Given the description of an element on the screen output the (x, y) to click on. 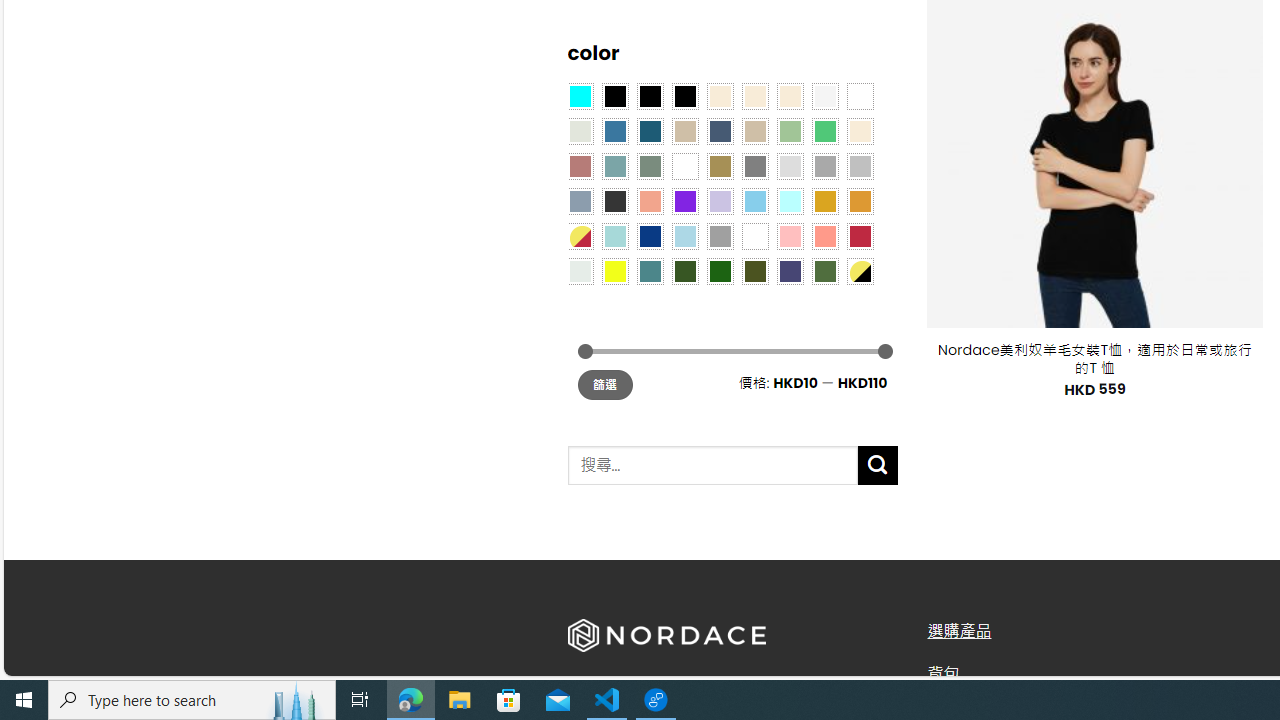
Dull Nickle (579, 270)
